Given the description of an element on the screen output the (x, y) to click on. 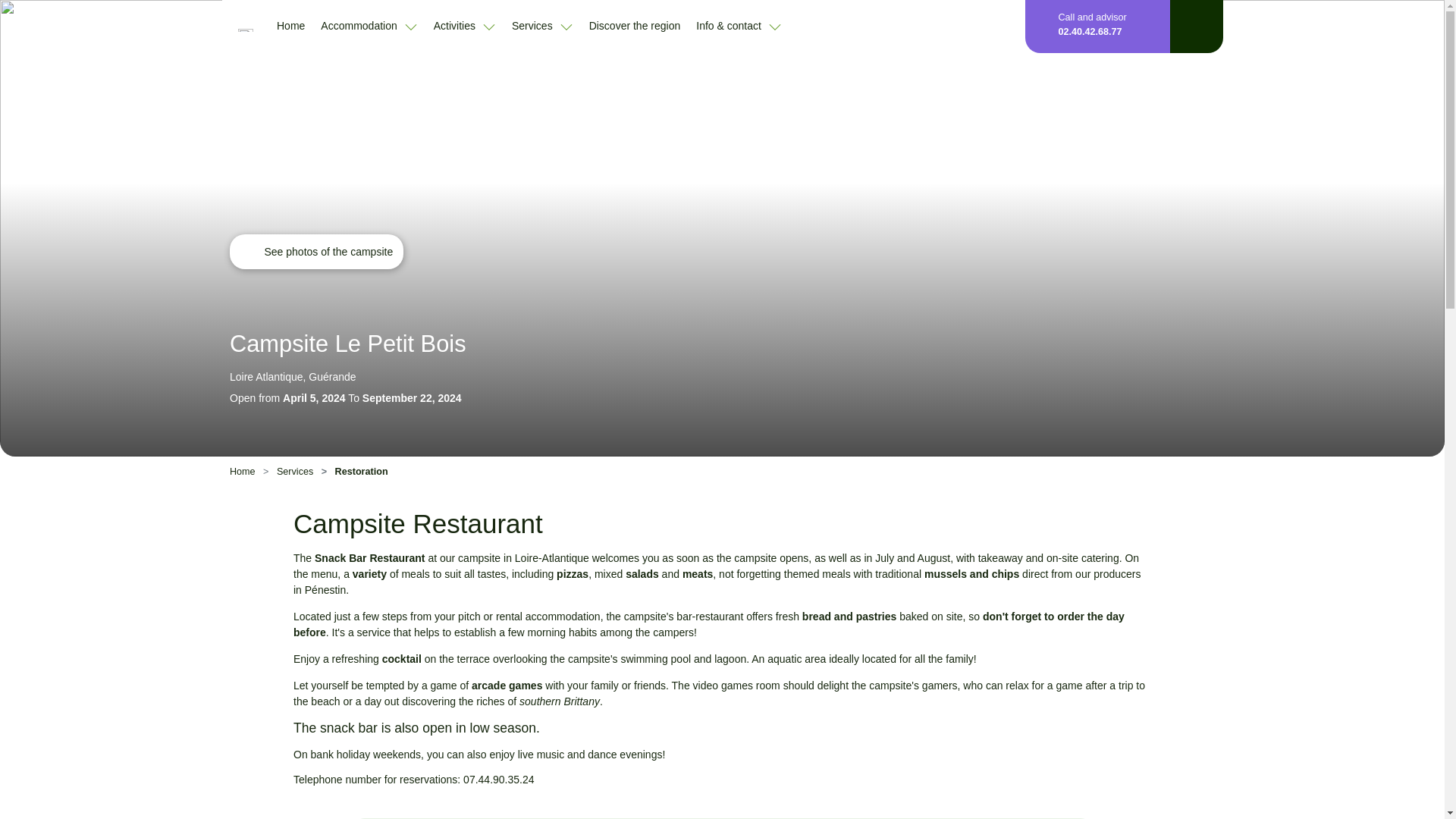
Services (542, 26)
Home (290, 25)
Discover the region (635, 25)
Activities (464, 26)
Accommodation (368, 26)
See photos of the campsite (316, 251)
